Given the description of an element on the screen output the (x, y) to click on. 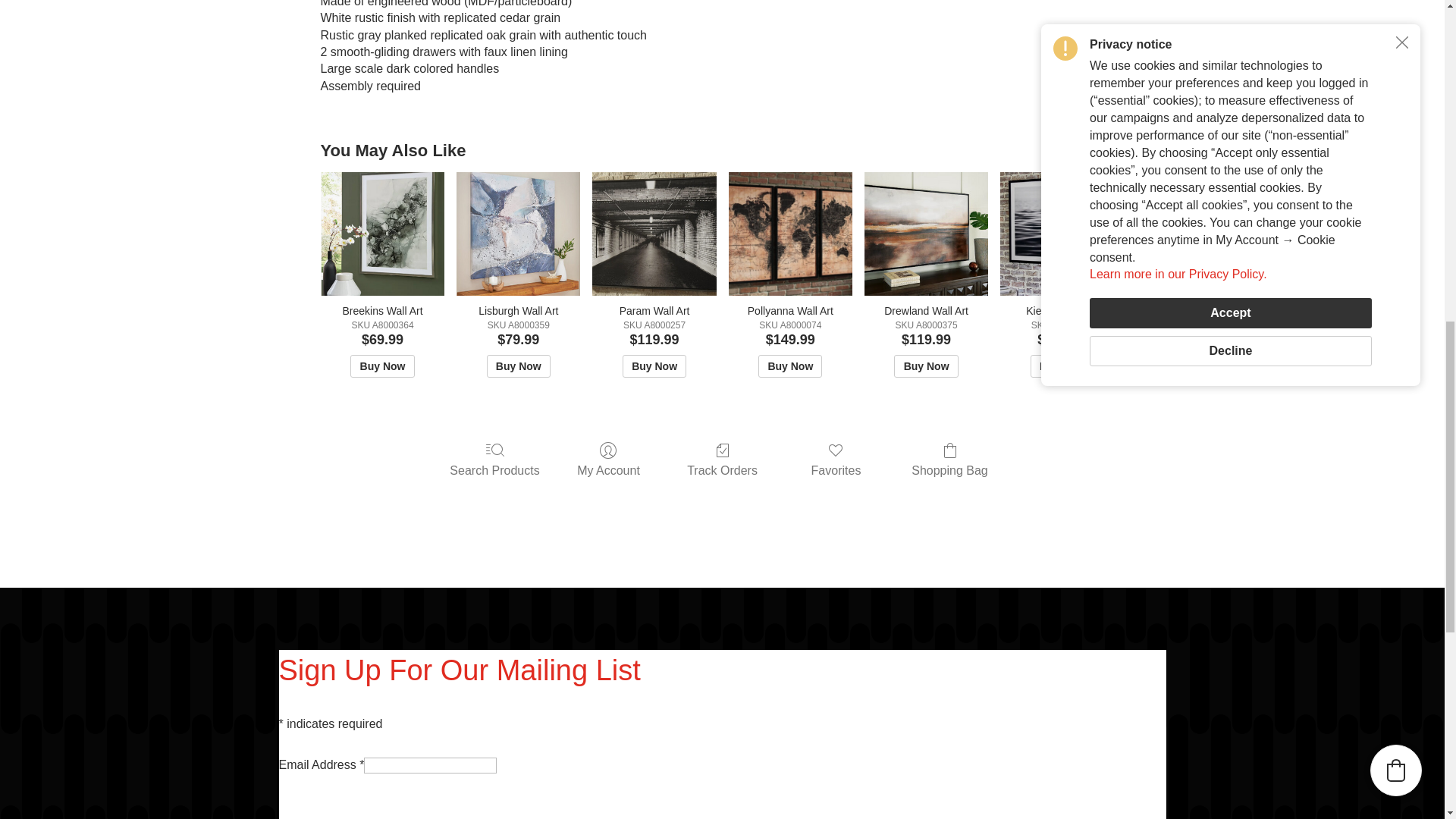
Breekins Wall Art (382, 233)
Param Wall Art (654, 233)
Lisburgh Wall Art (518, 233)
Pollyanna Wall Art (790, 233)
Param Wall Art (654, 233)
Pollyanna Wall Art (790, 233)
